Given the description of an element on the screen output the (x, y) to click on. 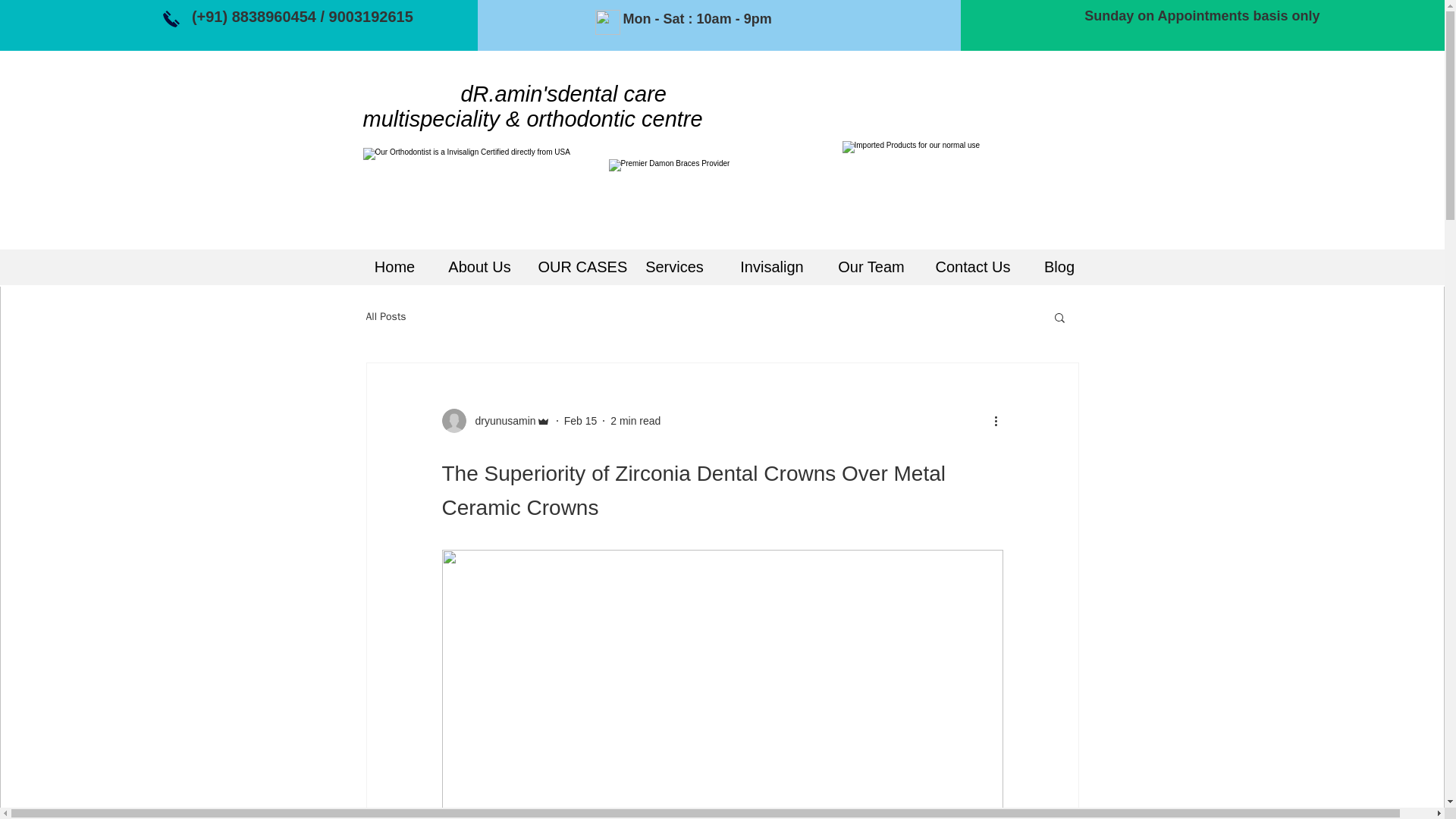
2 min read (635, 419)
Contact Us (973, 267)
Home (394, 267)
IMG-20201229-WA0000.jpg (721, 196)
Invisalign (772, 267)
                dR.amin'sdental care (513, 93)
Services (674, 267)
dryunusamin (495, 420)
Feb 15 (580, 419)
3m-uni.jpg (965, 185)
All Posts (385, 316)
About Us (478, 267)
dryunusamin (500, 420)
Our Team (871, 267)
Blog (1059, 267)
